Given the description of an element on the screen output the (x, y) to click on. 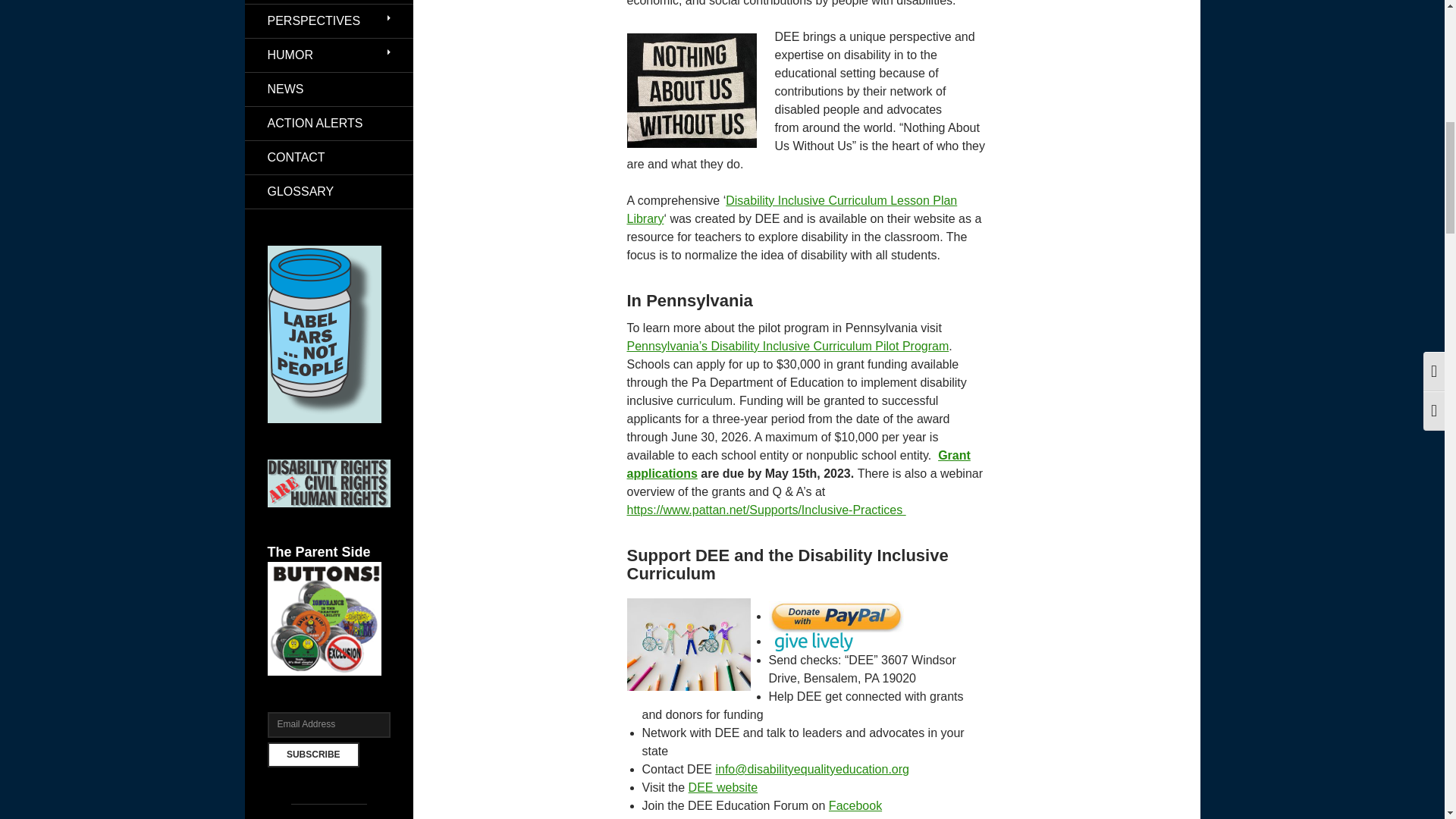
DEE website (723, 787)
Facebook (855, 805)
Disability Inclusive Curriculum Lesson Plan Library (791, 209)
Grant applications (797, 463)
